Given the description of an element on the screen output the (x, y) to click on. 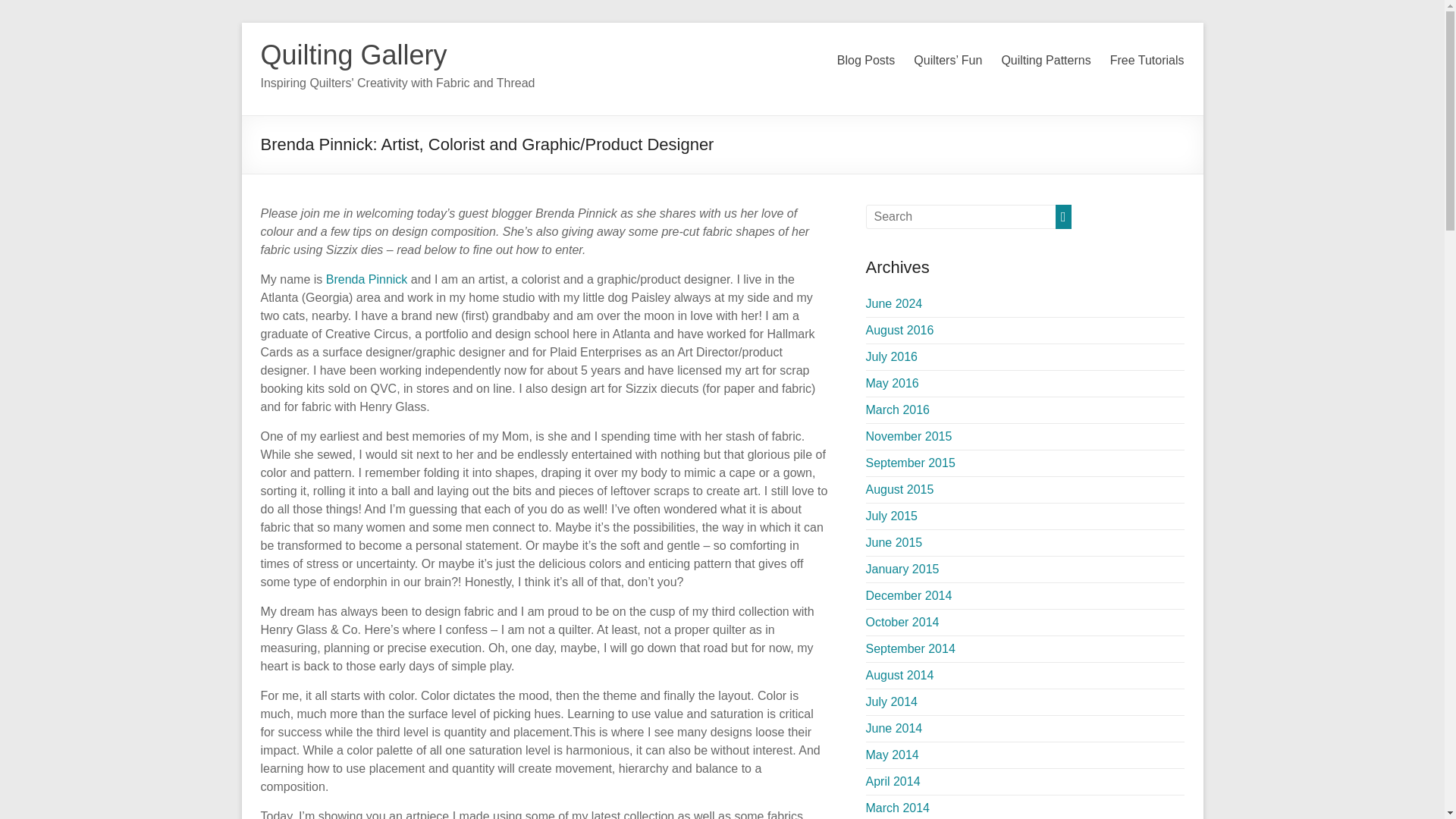
August 2014 (900, 675)
Free Tutorials (1147, 60)
July 2016 (892, 356)
Brenda Pinnick (366, 278)
Quilting Gallery (353, 54)
October 2014 (902, 621)
November 2015 (909, 436)
June 2024 (894, 303)
May 2016 (892, 382)
August 2016 (900, 329)
Quilting Patterns (1045, 60)
December 2014 (909, 594)
March 2016 (898, 409)
September 2015 (910, 462)
